Given the description of an element on the screen output the (x, y) to click on. 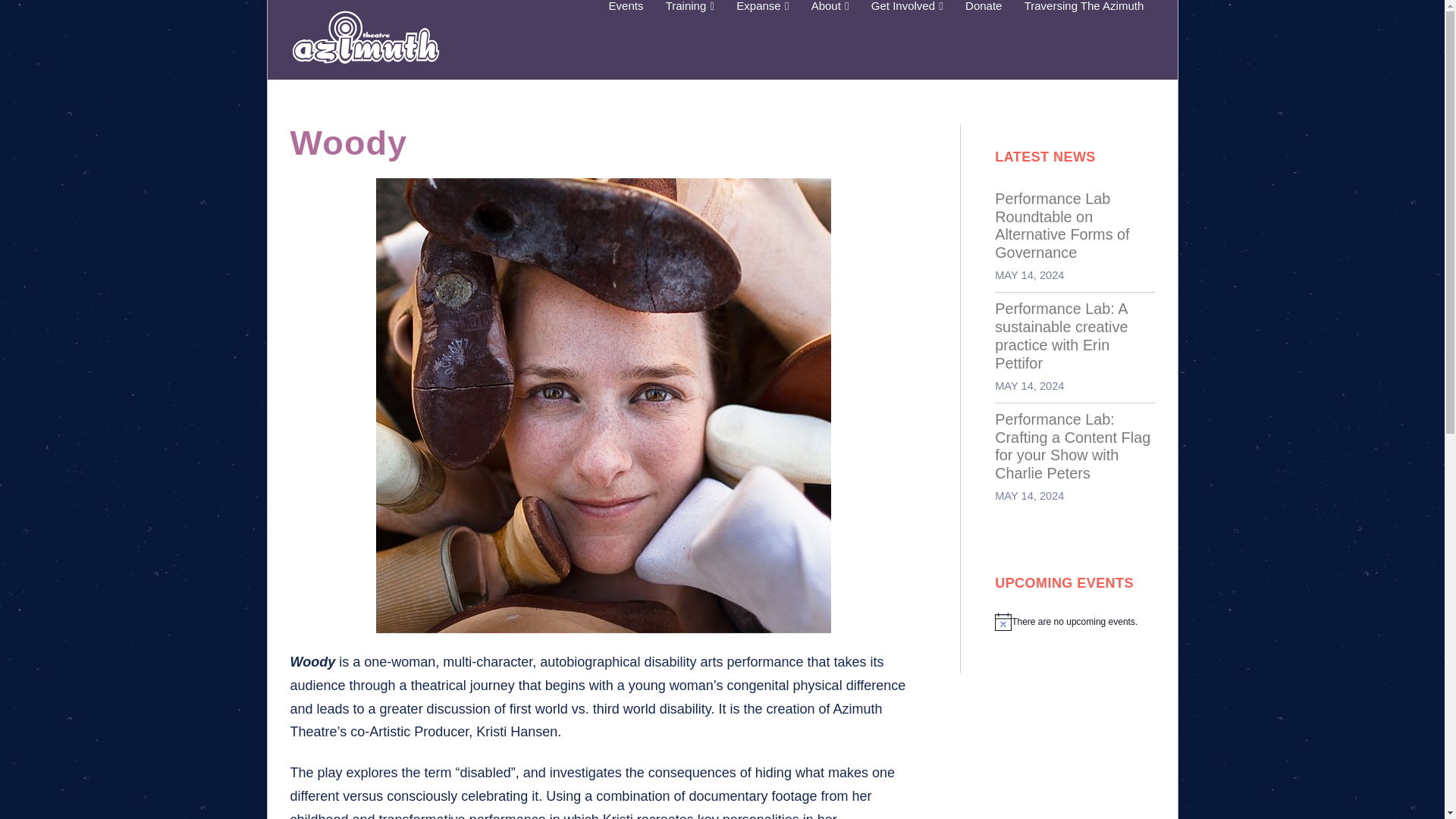
Expanse (762, 39)
Training (689, 39)
Get Involved (906, 39)
Traversing The Azimuth (1083, 39)
